Given the description of an element on the screen output the (x, y) to click on. 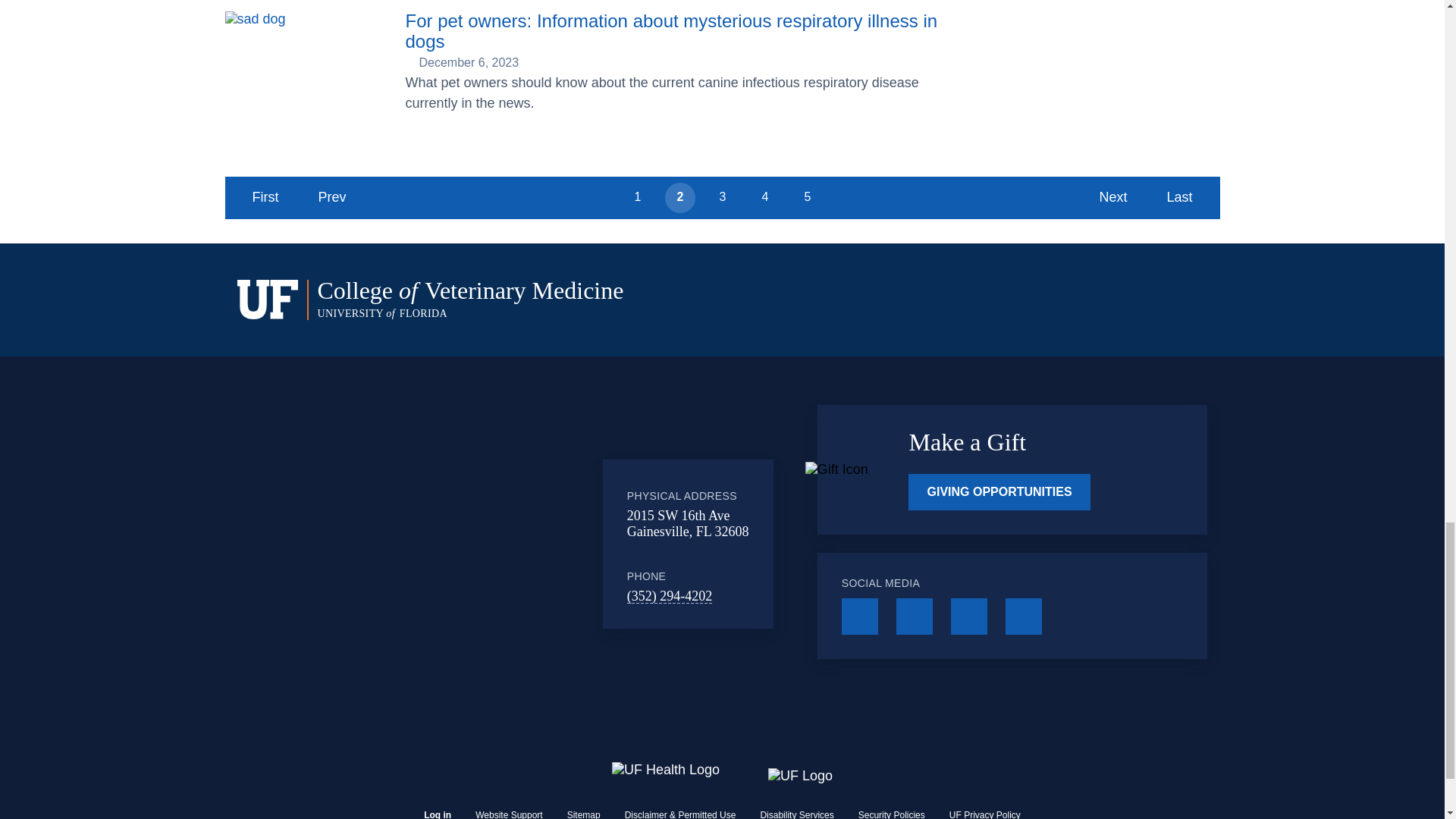
Security Policies (891, 814)
Log in (437, 814)
UF Privacy Policy (984, 814)
Disability Services (796, 814)
Sitemap (583, 814)
Google Maps Embed (478, 543)
Website Support (509, 814)
